Given the description of an element on the screen output the (x, y) to click on. 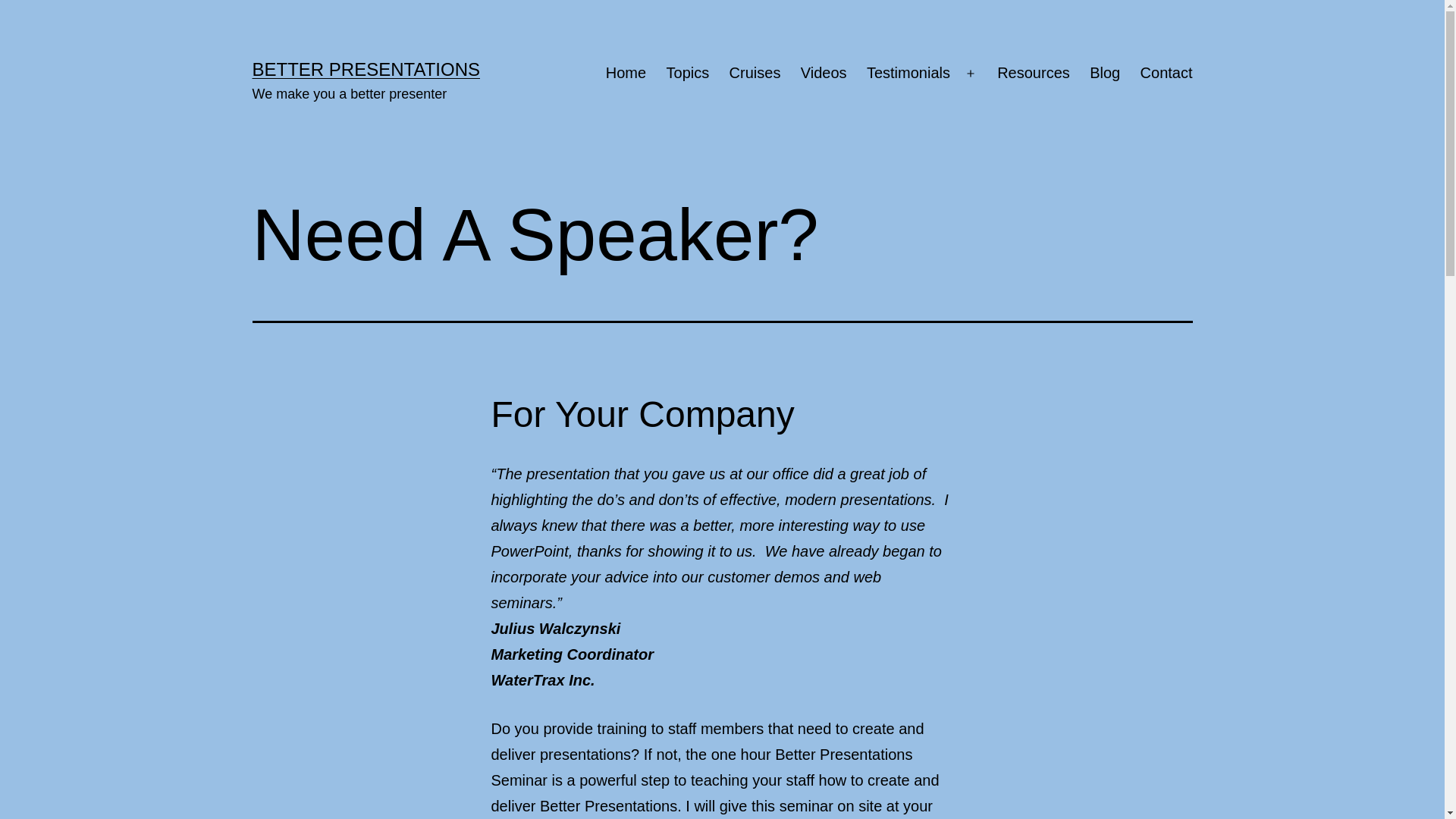
Videos Element type: text (823, 73)
Open menu Element type: text (970, 73)
Testimonials Element type: text (908, 73)
Home Element type: text (626, 73)
Topics Element type: text (686, 73)
BETTER PRESENTATIONS Element type: text (365, 69)
Resources Element type: text (1033, 73)
Cruises Element type: text (754, 73)
Contact Element type: text (1165, 73)
Blog Element type: text (1104, 73)
